Given the description of an element on the screen output the (x, y) to click on. 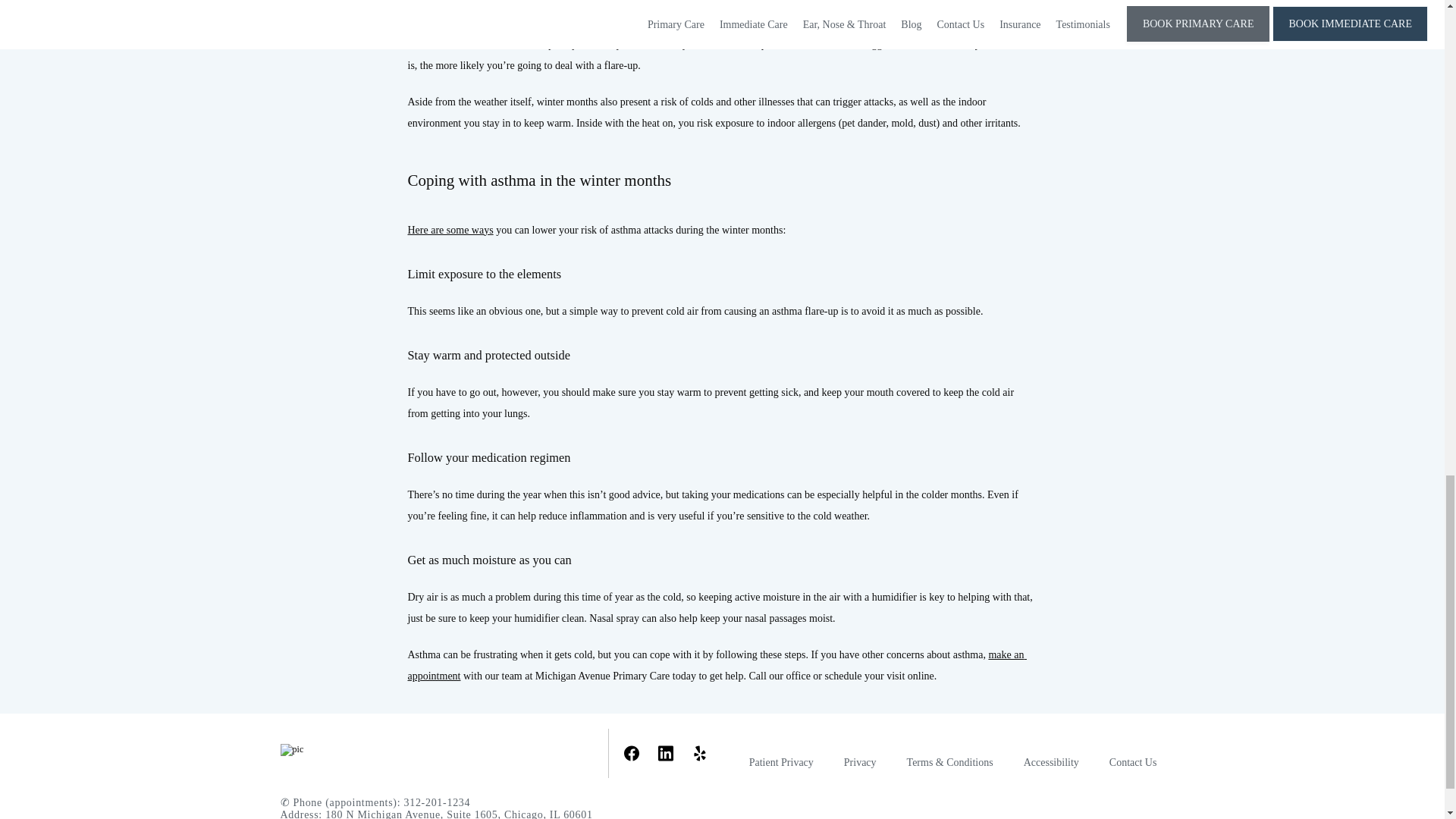
Contact Us (1133, 762)
Accessibility (1050, 762)
Privacy (860, 762)
make an appointment (716, 665)
and both can trigger attacks (864, 43)
Patient Privacy (781, 762)
Here are some ways (450, 229)
